Given the description of an element on the screen output the (x, y) to click on. 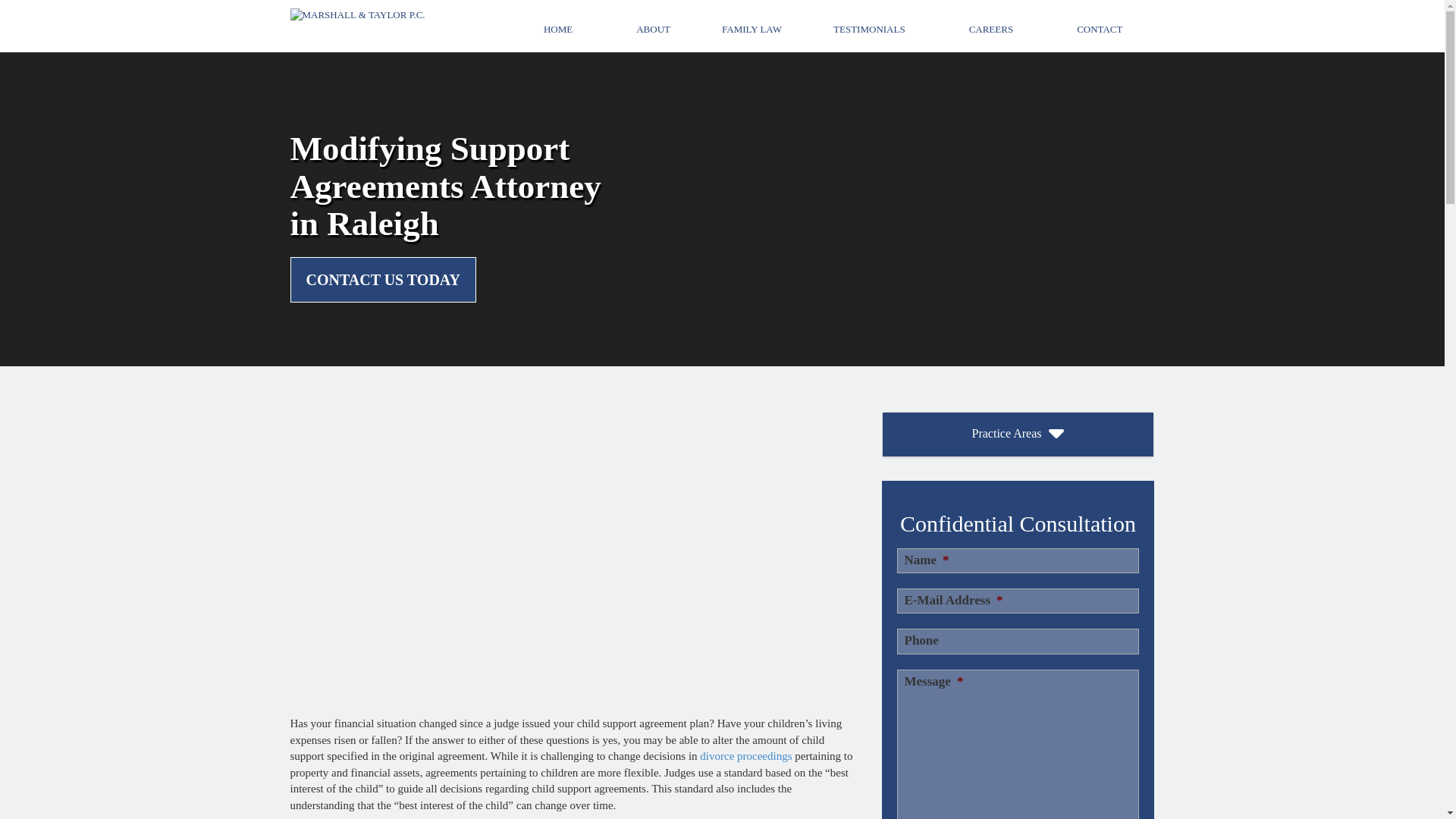
HOME (558, 30)
CONTACT (1099, 30)
CAREERS (991, 30)
Raleigh Divorce Attorneys (746, 756)
divorce proceedings (746, 756)
CONTACT US TODAY (382, 280)
FAMILY LAW (751, 30)
Practice Areas (1018, 434)
ABOUT (652, 30)
TESTIMONIALS (869, 30)
